Given the description of an element on the screen output the (x, y) to click on. 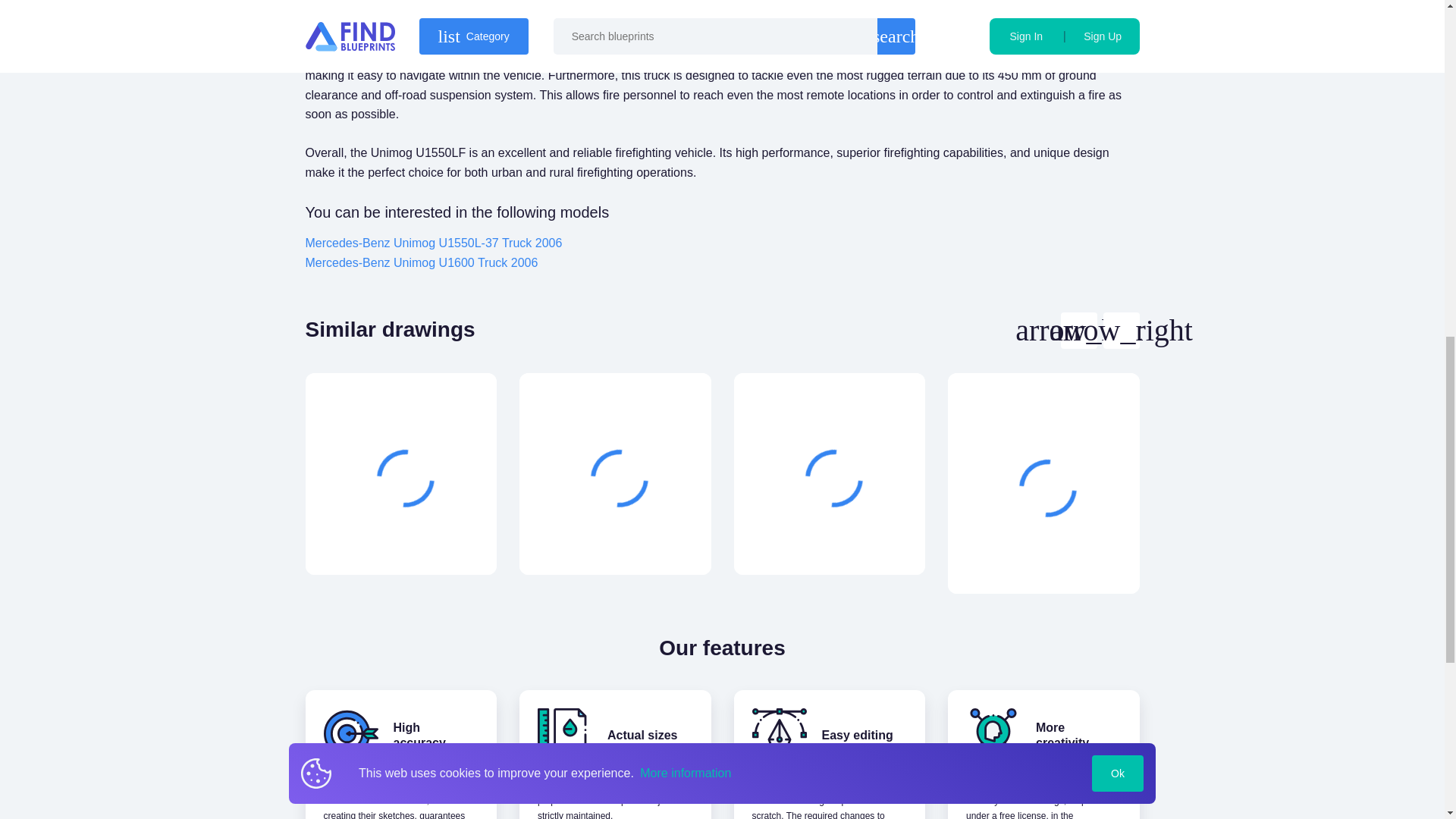
More (1045, 556)
Mercedes-Benz Unimog U1600 Truck 2006 (420, 262)
Mercedes-Benz Unimog U1550L-37 Truck 2006 (433, 242)
More (617, 538)
More (402, 538)
More (831, 538)
